Given the description of an element on the screen output the (x, y) to click on. 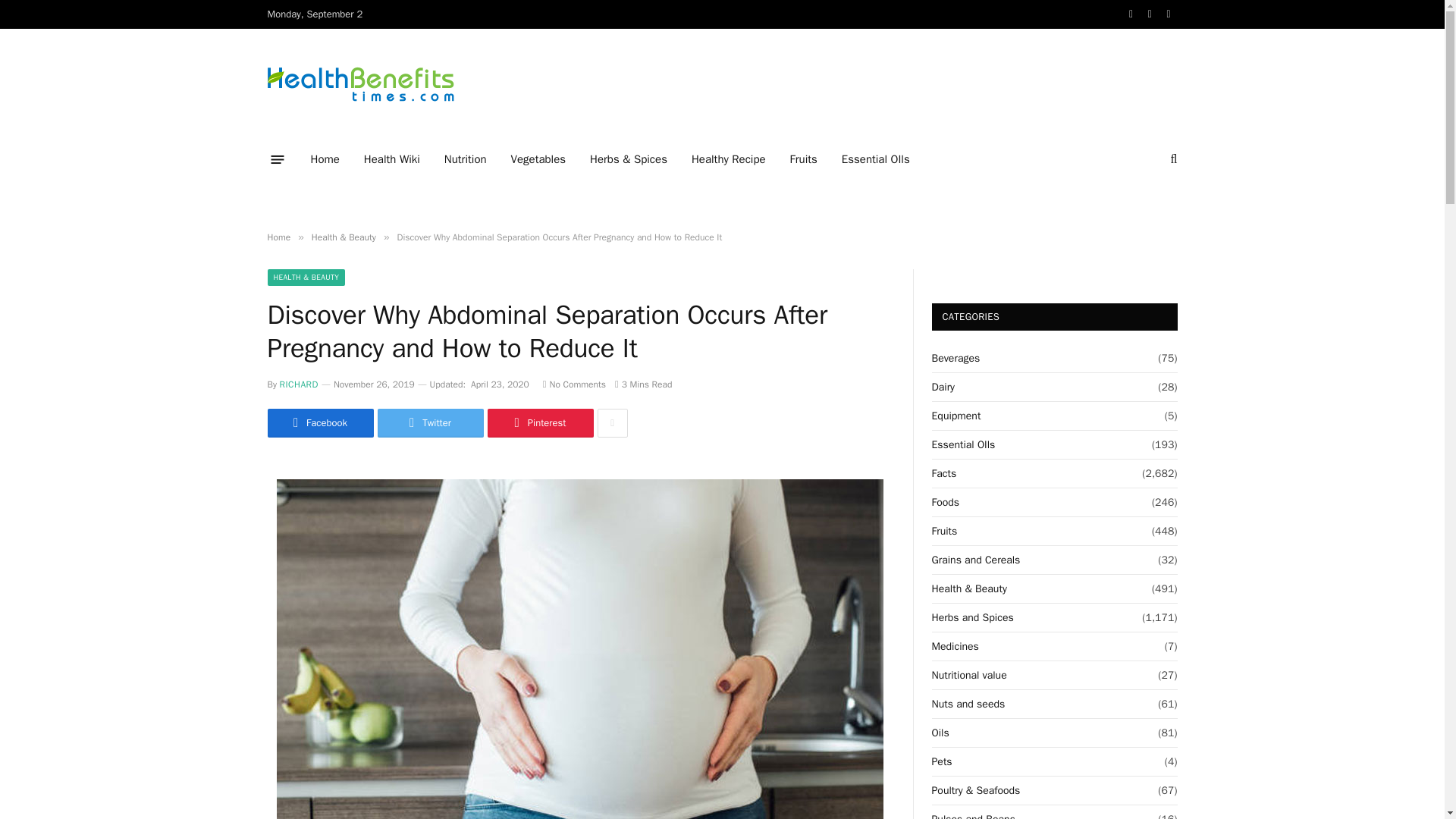
Health Wiki (392, 159)
RICHARD (298, 384)
Fruits (803, 159)
Healthy Recipe (728, 159)
Twitter (430, 422)
Facebook (319, 422)
Share on Twitter (430, 422)
Home (325, 159)
Share on Pinterest (539, 422)
Nutrition (465, 159)
